Given the description of an element on the screen output the (x, y) to click on. 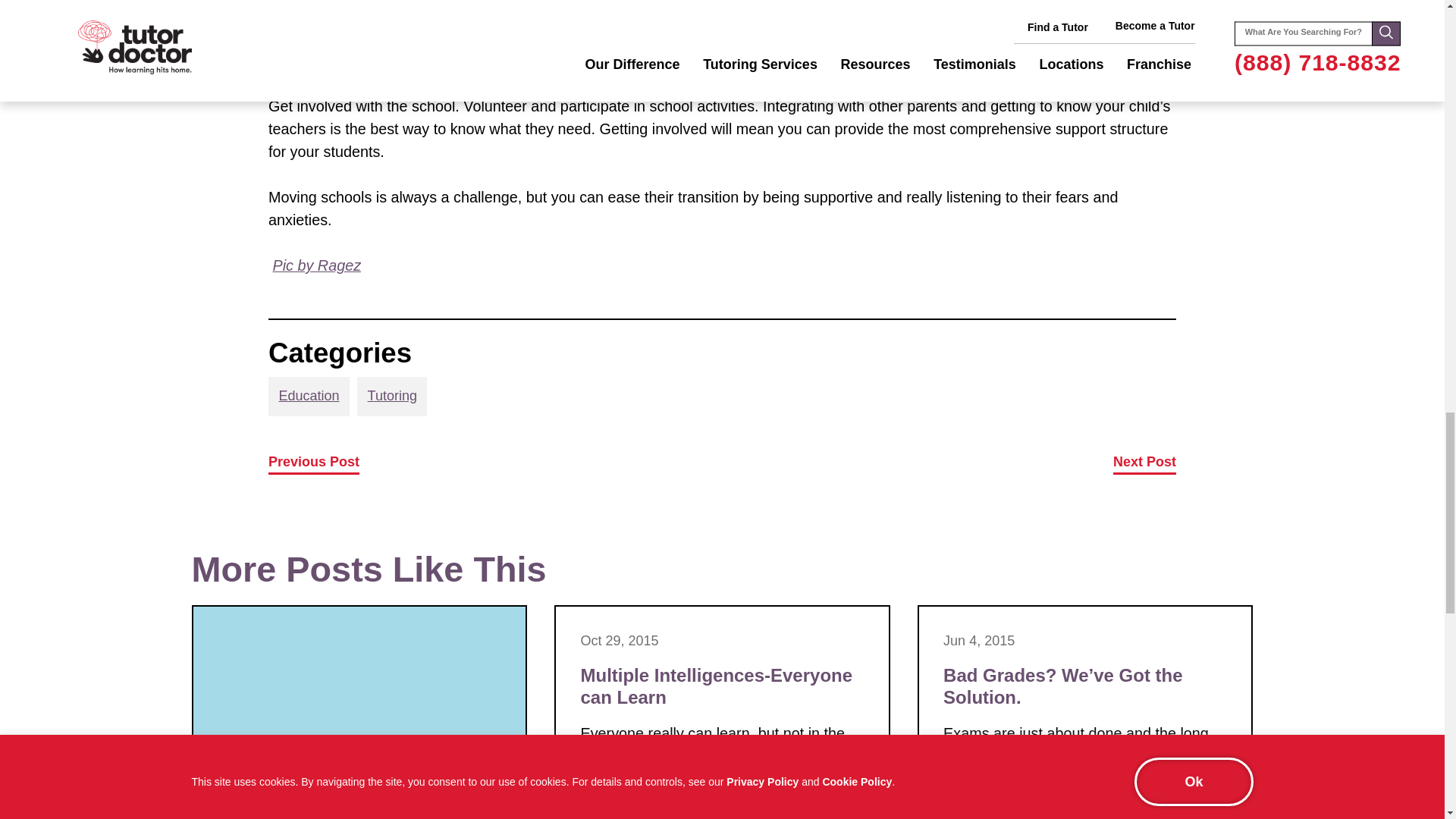
in-home tutor (317, 265)
